Given the description of an element on the screen output the (x, y) to click on. 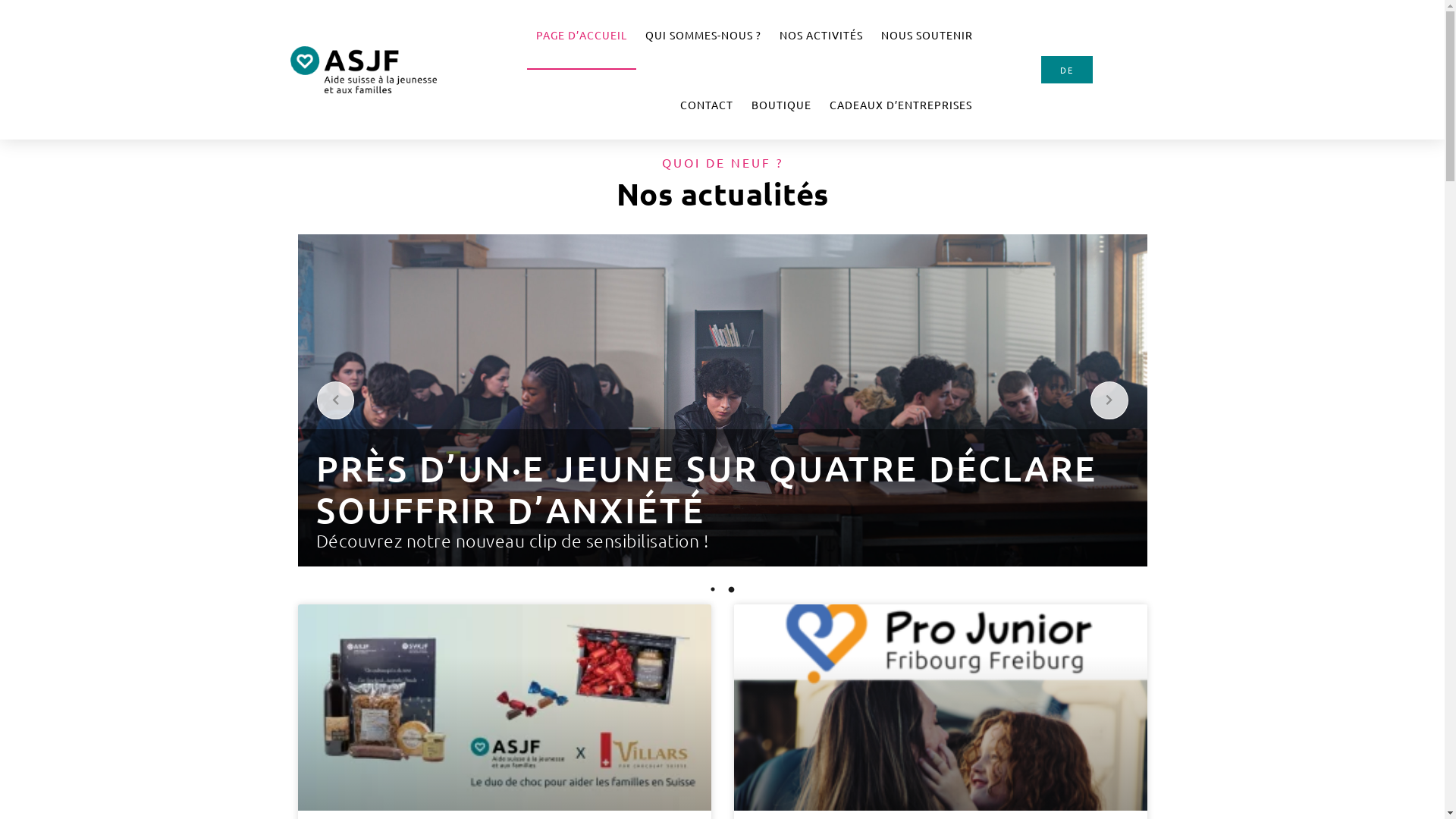
NOUS SOUTENIR Element type: text (927, 34)
CONTACT Element type: text (706, 104)
1 Element type: text (712, 588)
BOUTIQUE Element type: text (781, 104)
DE Element type: text (1066, 70)
2 Element type: text (730, 588)
QUI SOMMES-NOUS ? Element type: text (702, 34)
